Given the description of an element on the screen output the (x, y) to click on. 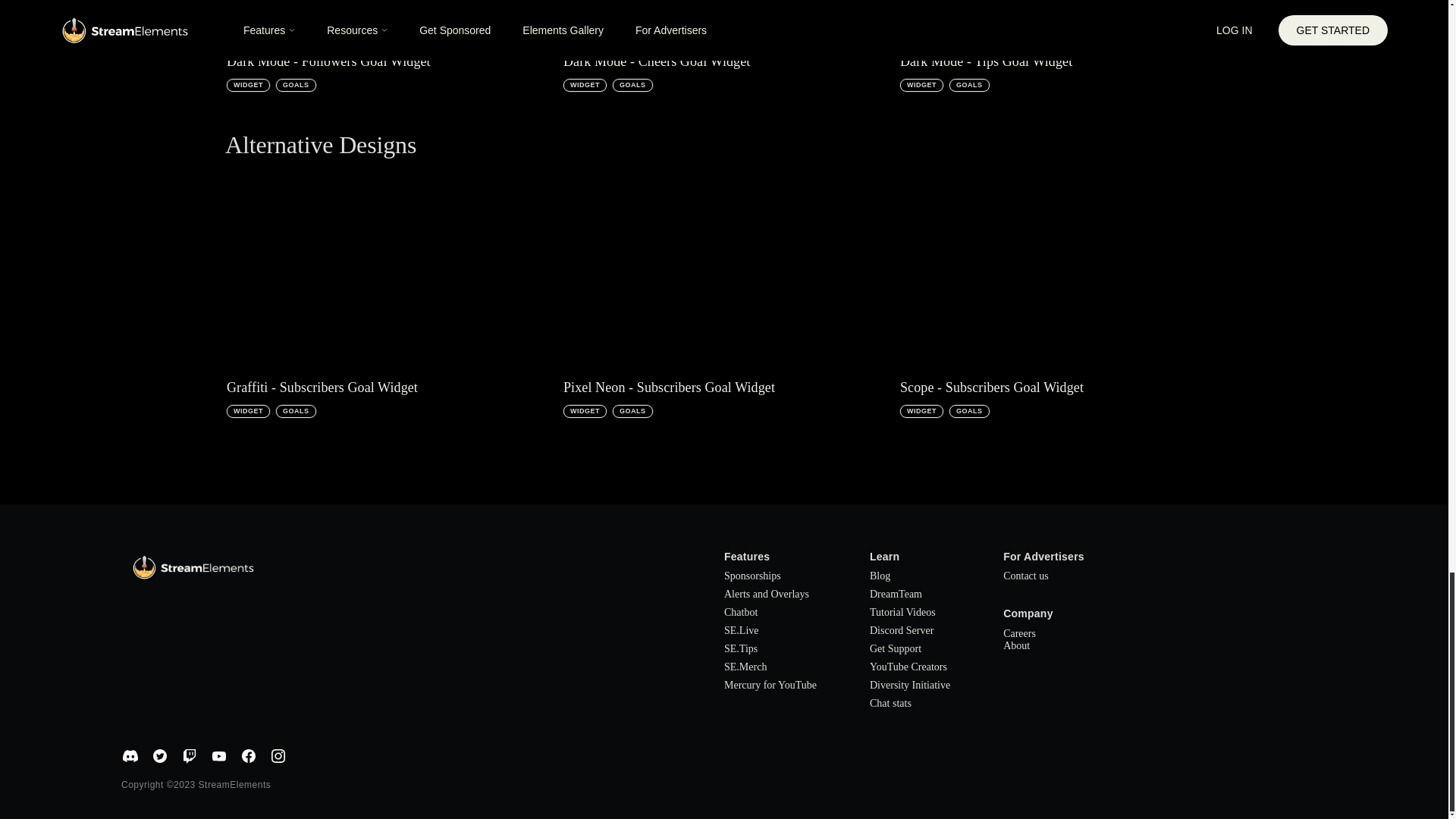
GOALS (295, 410)
GOALS (295, 84)
Twitch (189, 755)
Instagram (277, 755)
GOALS (969, 84)
GOALS (969, 410)
WIDGET (248, 410)
Pixel Neon - Subscribers Goal Widget (724, 293)
Youtube (218, 755)
Twitter (159, 755)
Graffiti - Subscribers Goal Widget (387, 293)
WIDGET (585, 84)
WIDGET (248, 84)
WIDGET (921, 84)
GOALS (632, 410)
